Given the description of an element on the screen output the (x, y) to click on. 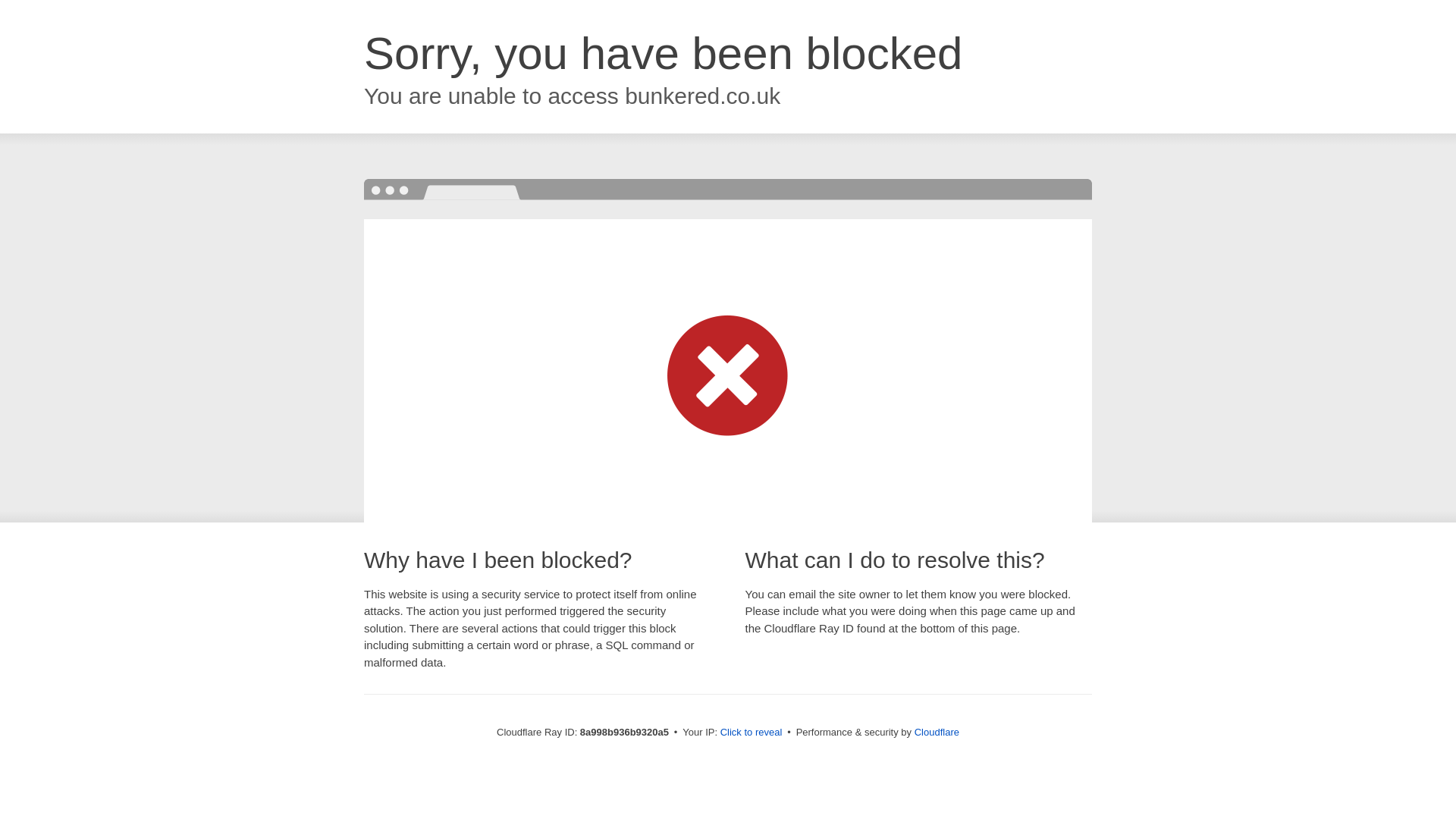
Click to reveal (751, 732)
Cloudflare (936, 731)
